Given the description of an element on the screen output the (x, y) to click on. 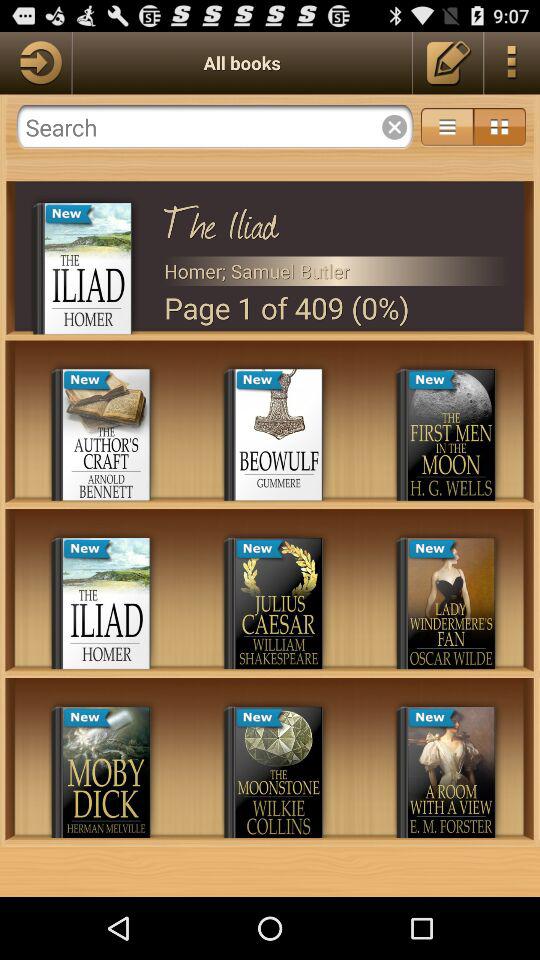
turn off item to the left of all books (35, 62)
